Given the description of an element on the screen output the (x, y) to click on. 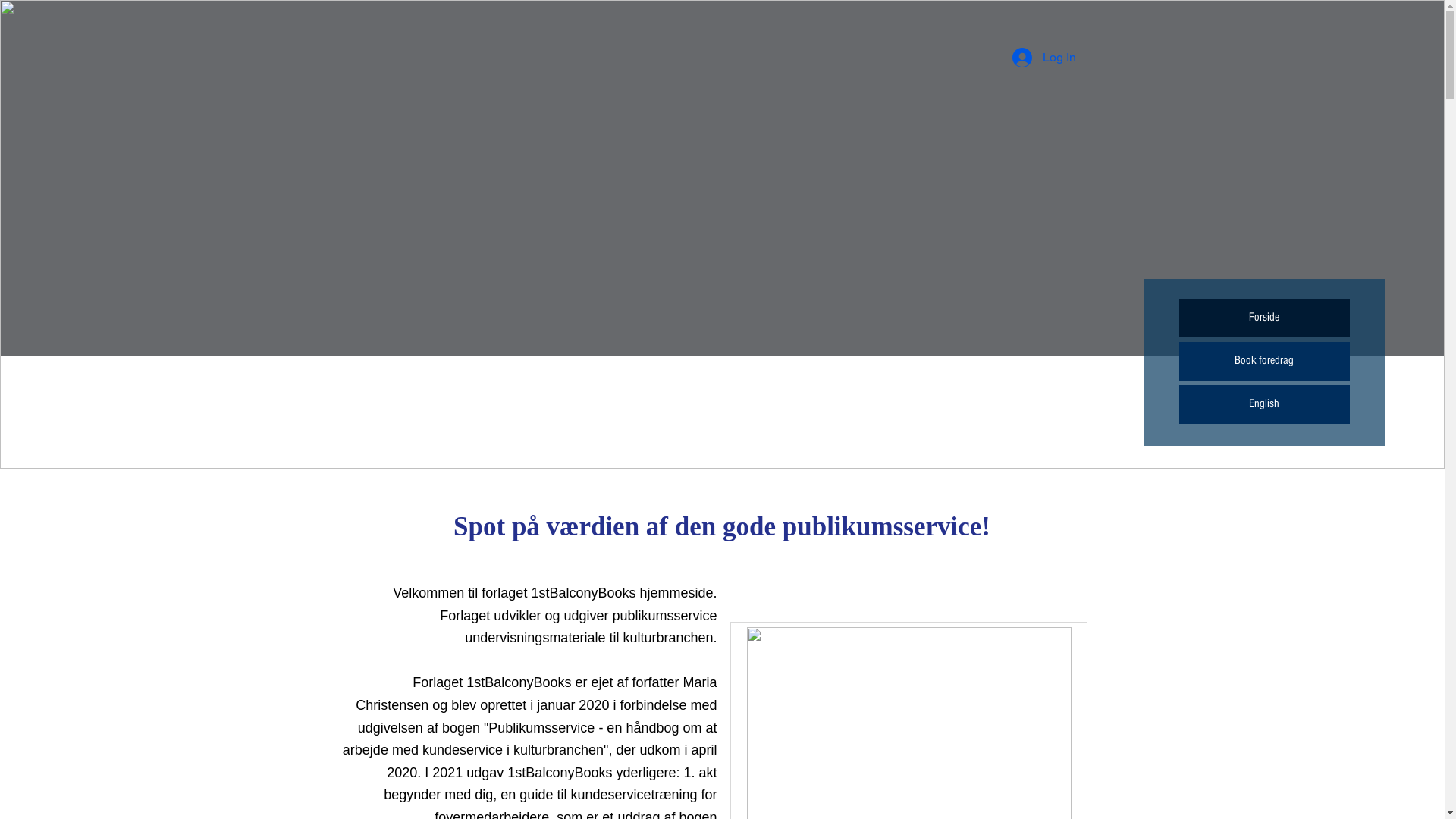
Book foredrag Element type: text (1263, 361)
English Element type: text (1263, 404)
Forside Element type: text (1263, 317)
Log In Element type: text (1043, 57)
